Given the description of an element on the screen output the (x, y) to click on. 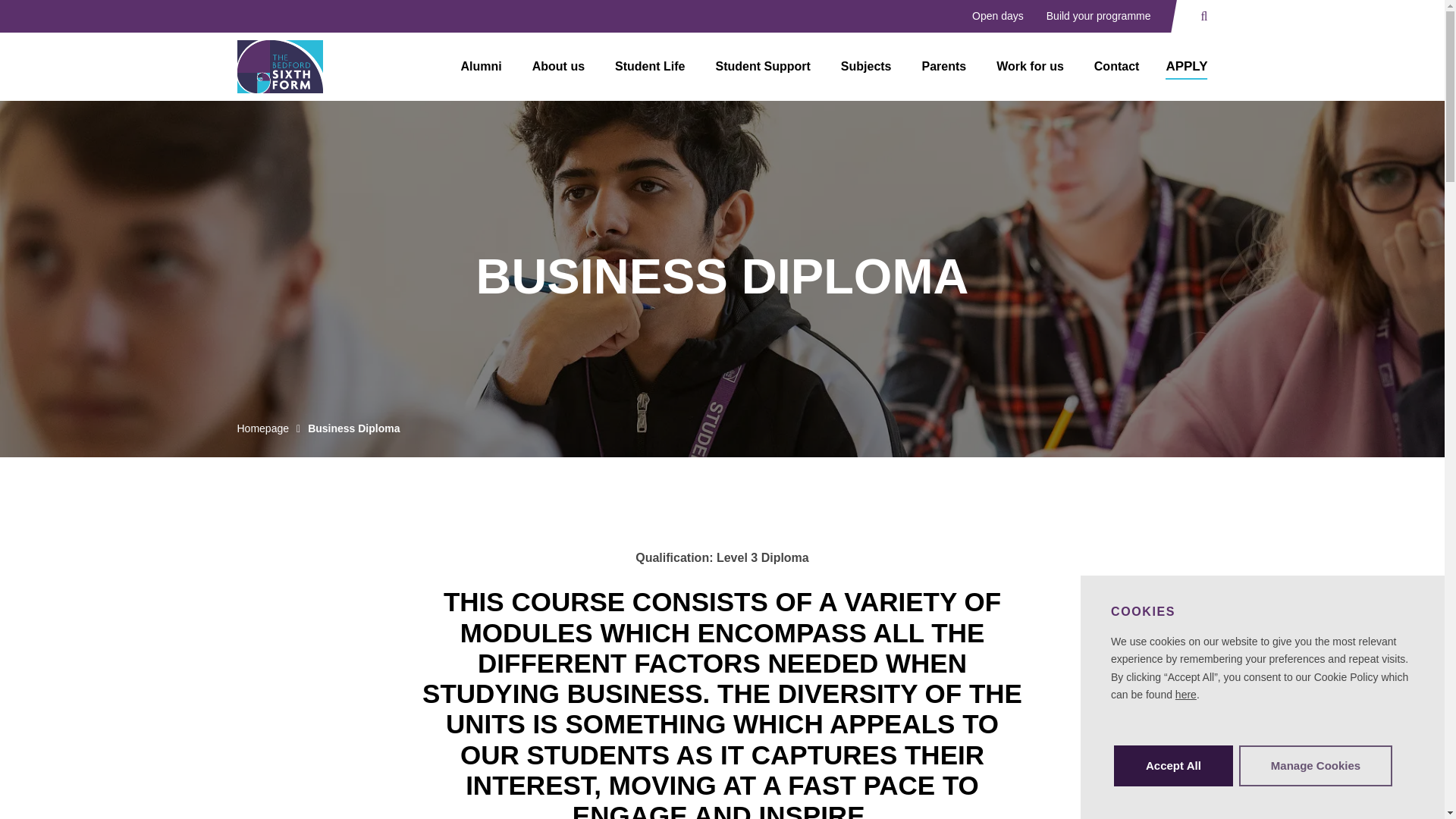
Student Support (762, 66)
Open days (997, 16)
Student Life (649, 66)
Alumni (480, 66)
Build your programme (1098, 16)
About us (557, 66)
Skip to main content (78, 21)
